Given the description of an element on the screen output the (x, y) to click on. 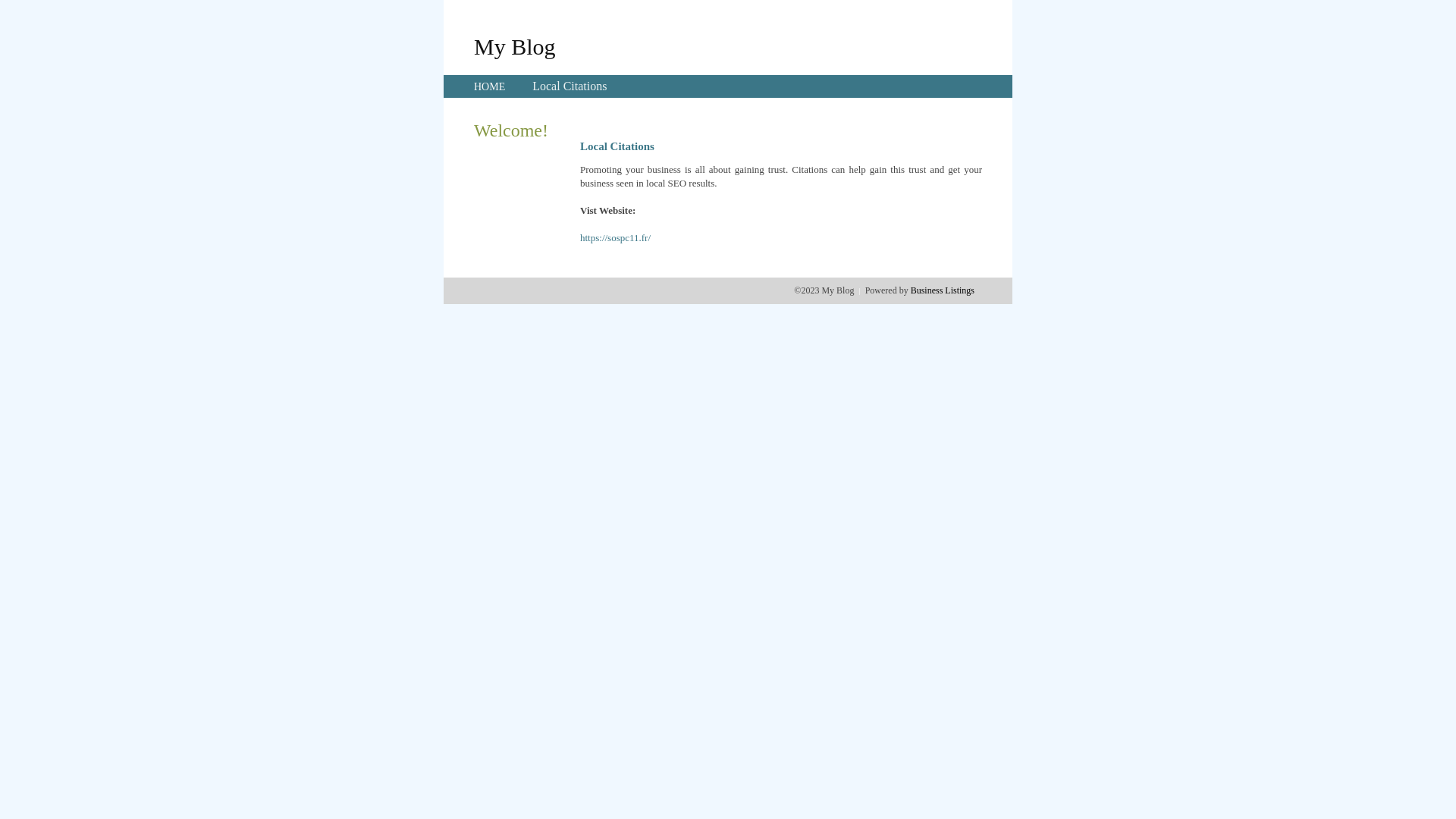
HOME Element type: text (489, 86)
My Blog Element type: text (514, 46)
Business Listings Element type: text (942, 290)
Local Citations Element type: text (569, 85)
https://sospc11.fr/ Element type: text (615, 237)
